Given the description of an element on the screen output the (x, y) to click on. 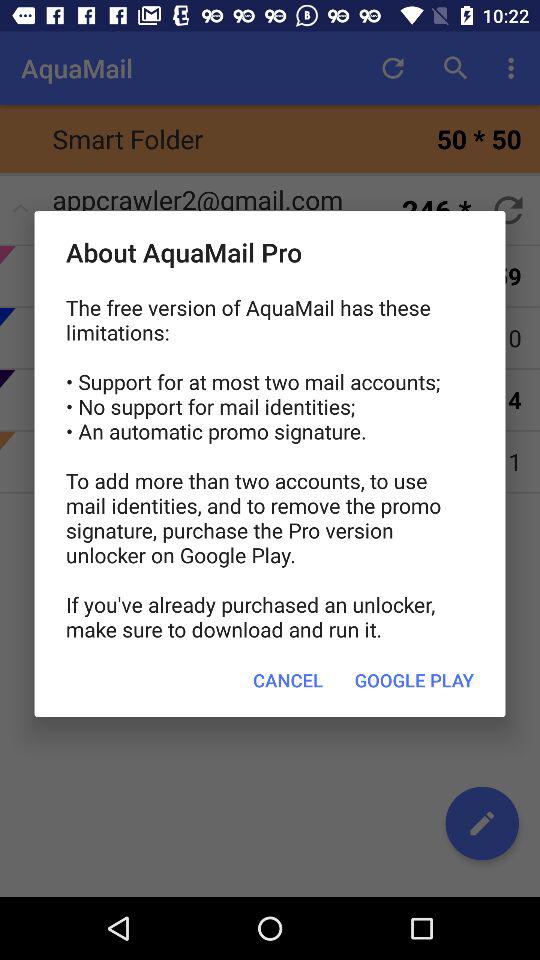
launch the icon to the left of the google play icon (287, 679)
